Given the description of an element on the screen output the (x, y) to click on. 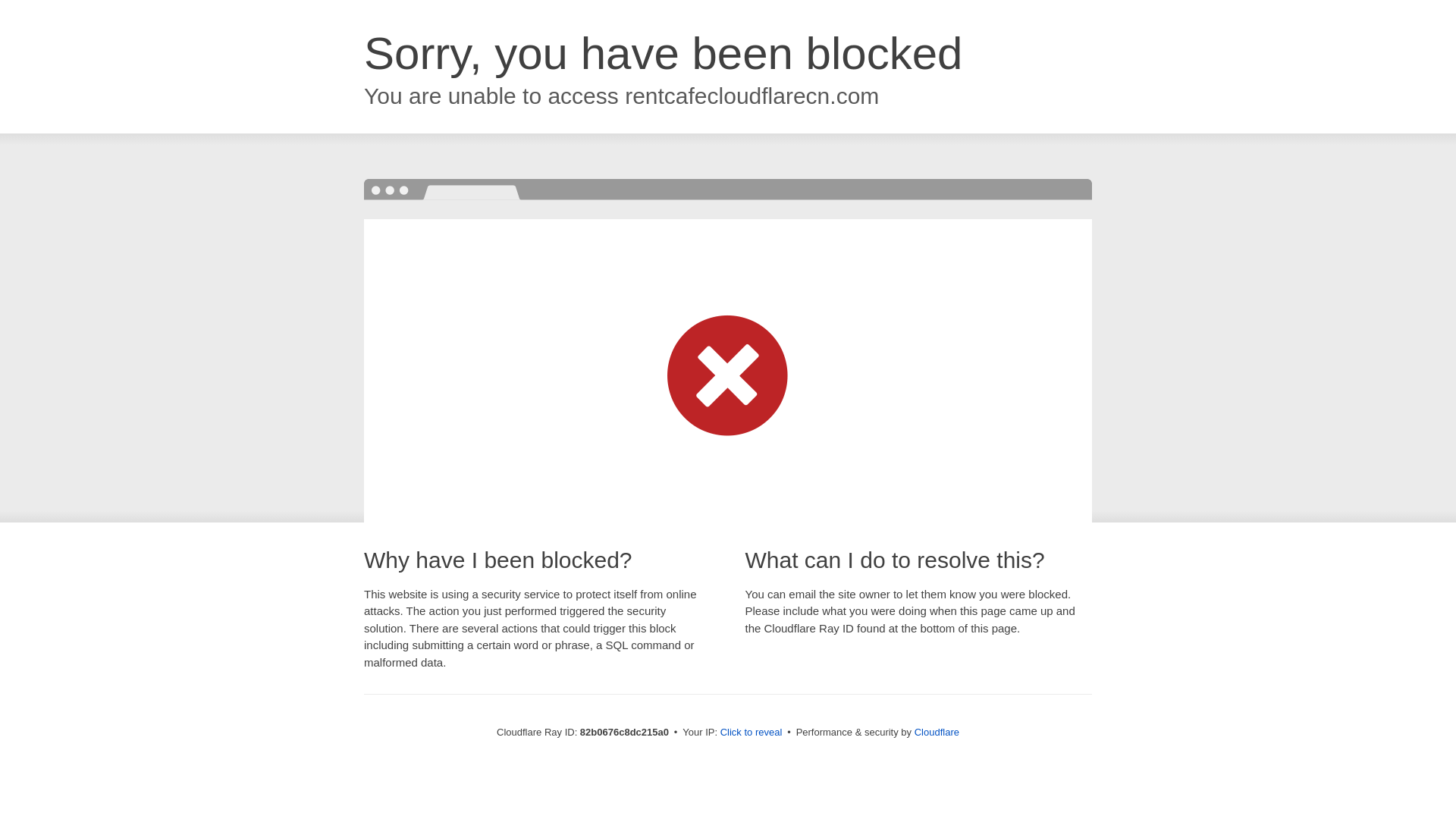
Cloudflare Element type: text (936, 731)
Click to reveal Element type: text (751, 732)
